Given the description of an element on the screen output the (x, y) to click on. 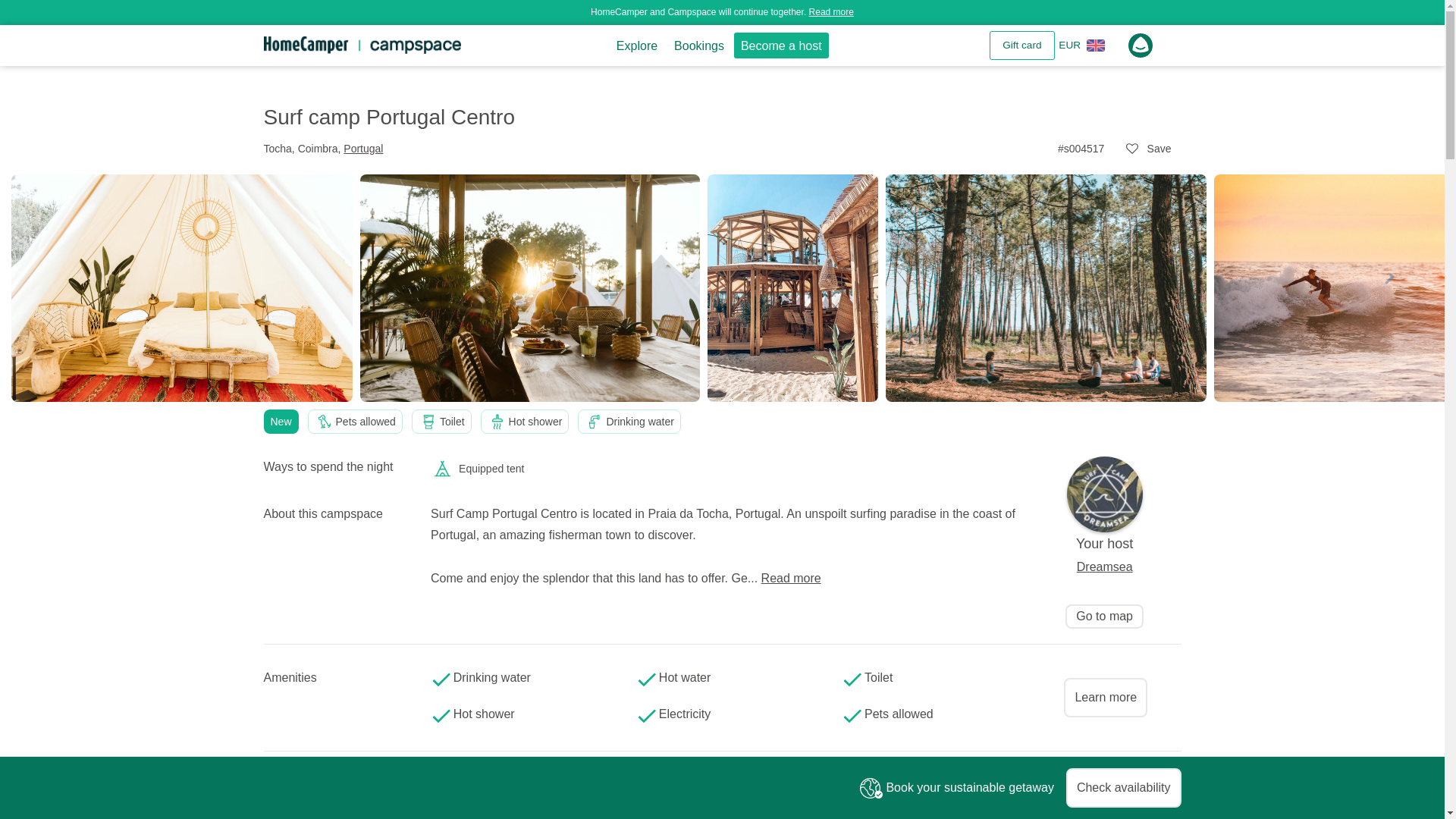
Read more (831, 11)
English (1095, 45)
Bookings (698, 45)
Explore (636, 45)
Become a host (780, 45)
EUR (1070, 45)
Gift card (1022, 45)
